Given the description of an element on the screen output the (x, y) to click on. 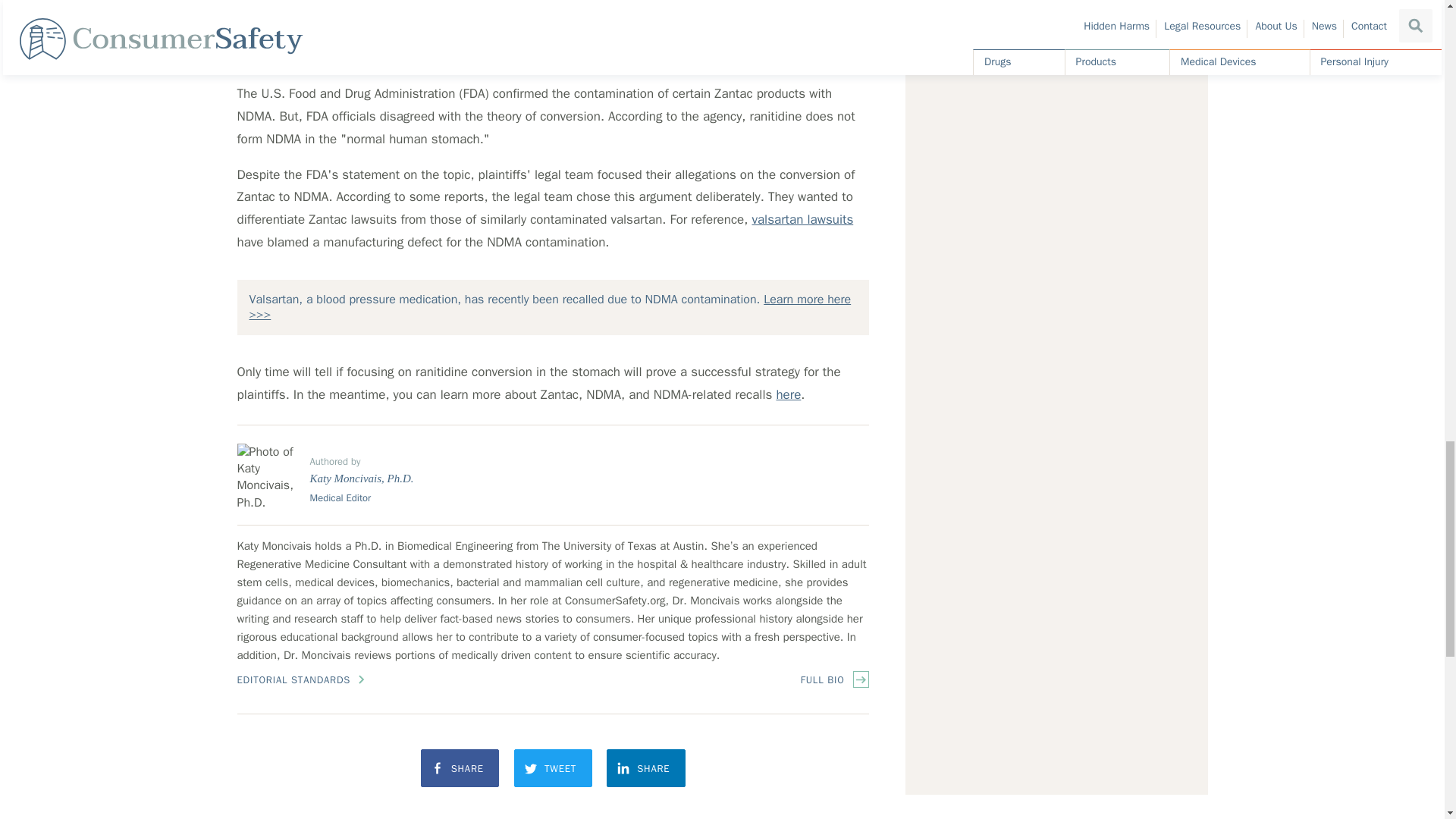
Share this on Twitter (552, 768)
Share this on Facebook (459, 768)
Share this on LinkedIn (646, 768)
